Given the description of an element on the screen output the (x, y) to click on. 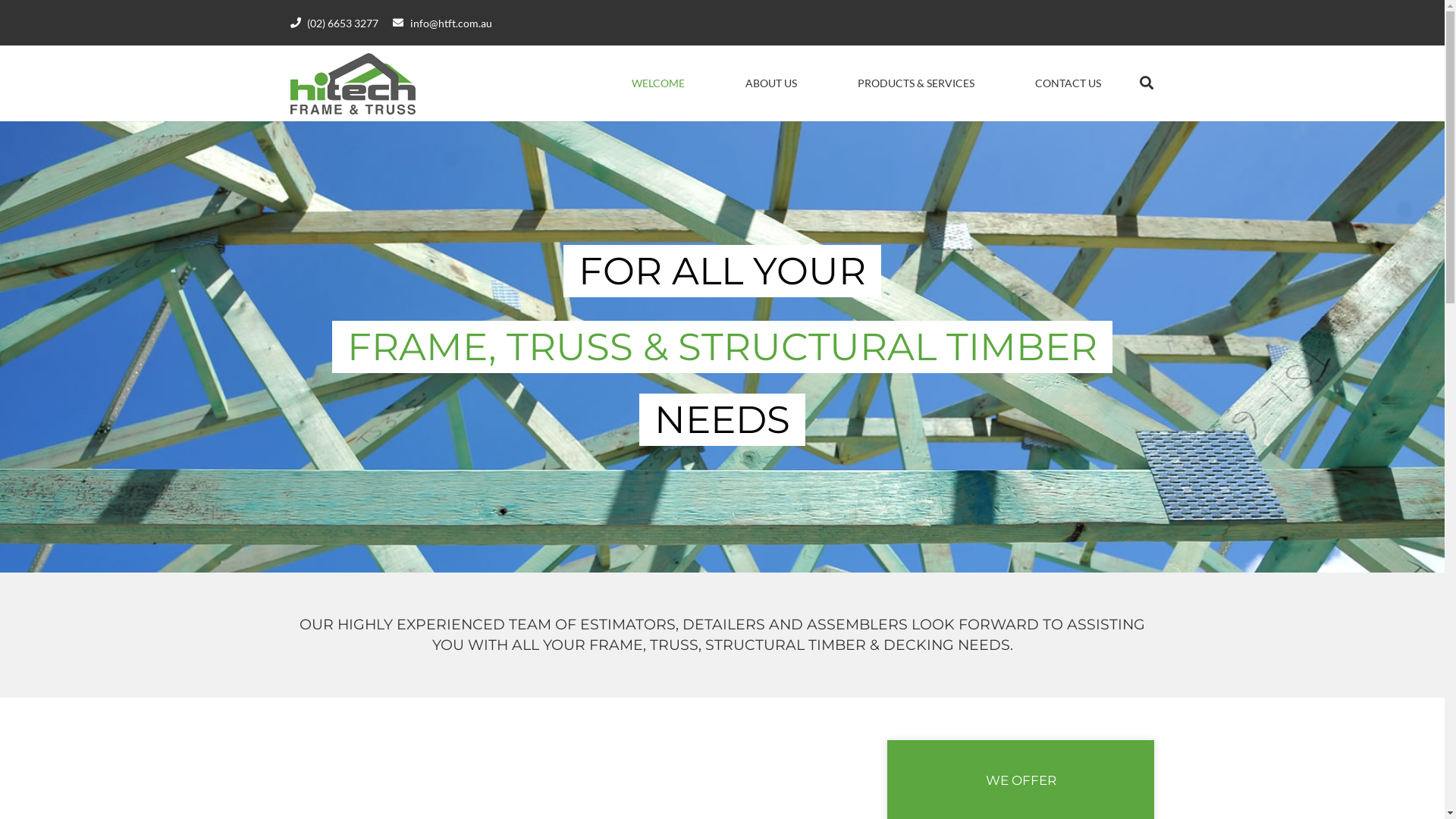
CONTACT US Element type: text (1067, 83)
WELCOME Element type: text (658, 83)
ABOUT US Element type: text (771, 83)
PRODUCTS & SERVICES Element type: text (915, 83)
info@htft.com.au Element type: text (441, 22)
